Given the description of an element on the screen output the (x, y) to click on. 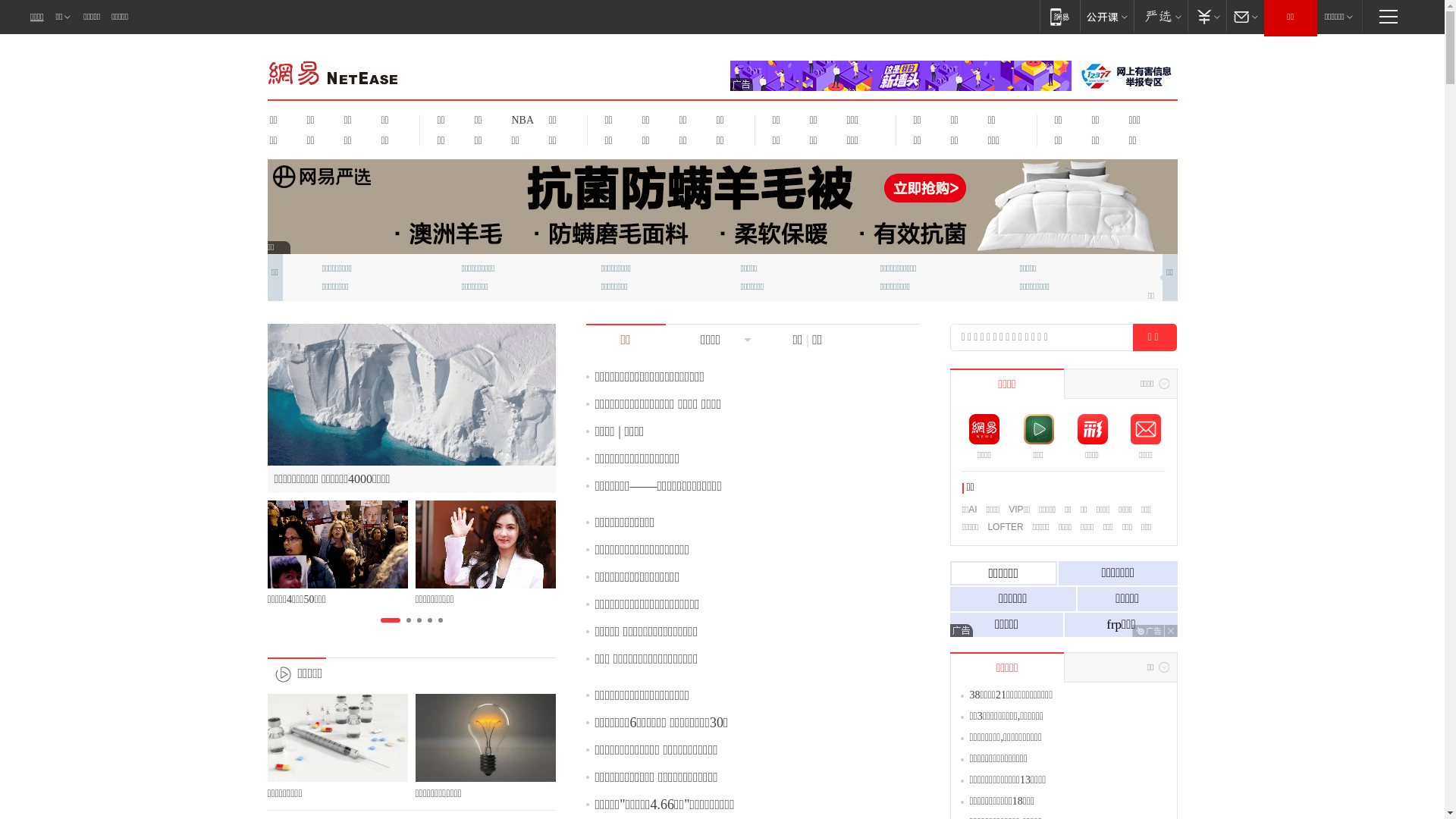
NBA Element type: text (520, 119)
LOFTER Element type: text (1004, 526)
